Given the description of an element on the screen output the (x, y) to click on. 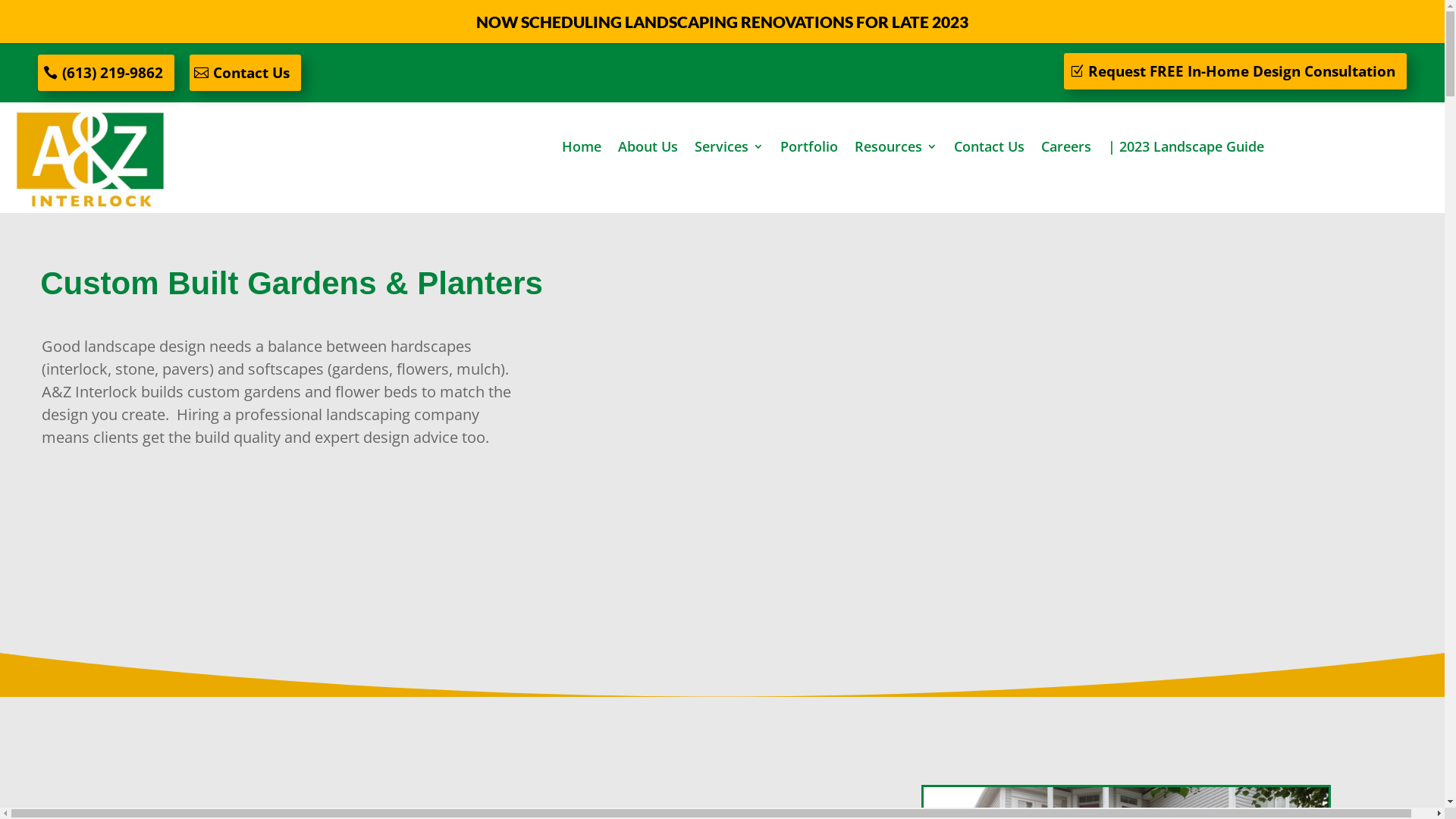
Home Element type: text (581, 149)
(613) 219-9862 Element type: text (105, 72)
Portfolio Element type: text (808, 149)
Contact Us Element type: text (988, 149)
Services Element type: text (728, 149)
Resources Element type: text (895, 149)
| 2023 Landscape Guide Element type: text (1185, 149)
Contact Us Element type: text (245, 72)
About Us Element type: text (647, 149)
Request FREE In-Home Design Consultation Element type: text (1234, 71)
Careers Element type: text (1066, 149)
